Given the description of an element on the screen output the (x, y) to click on. 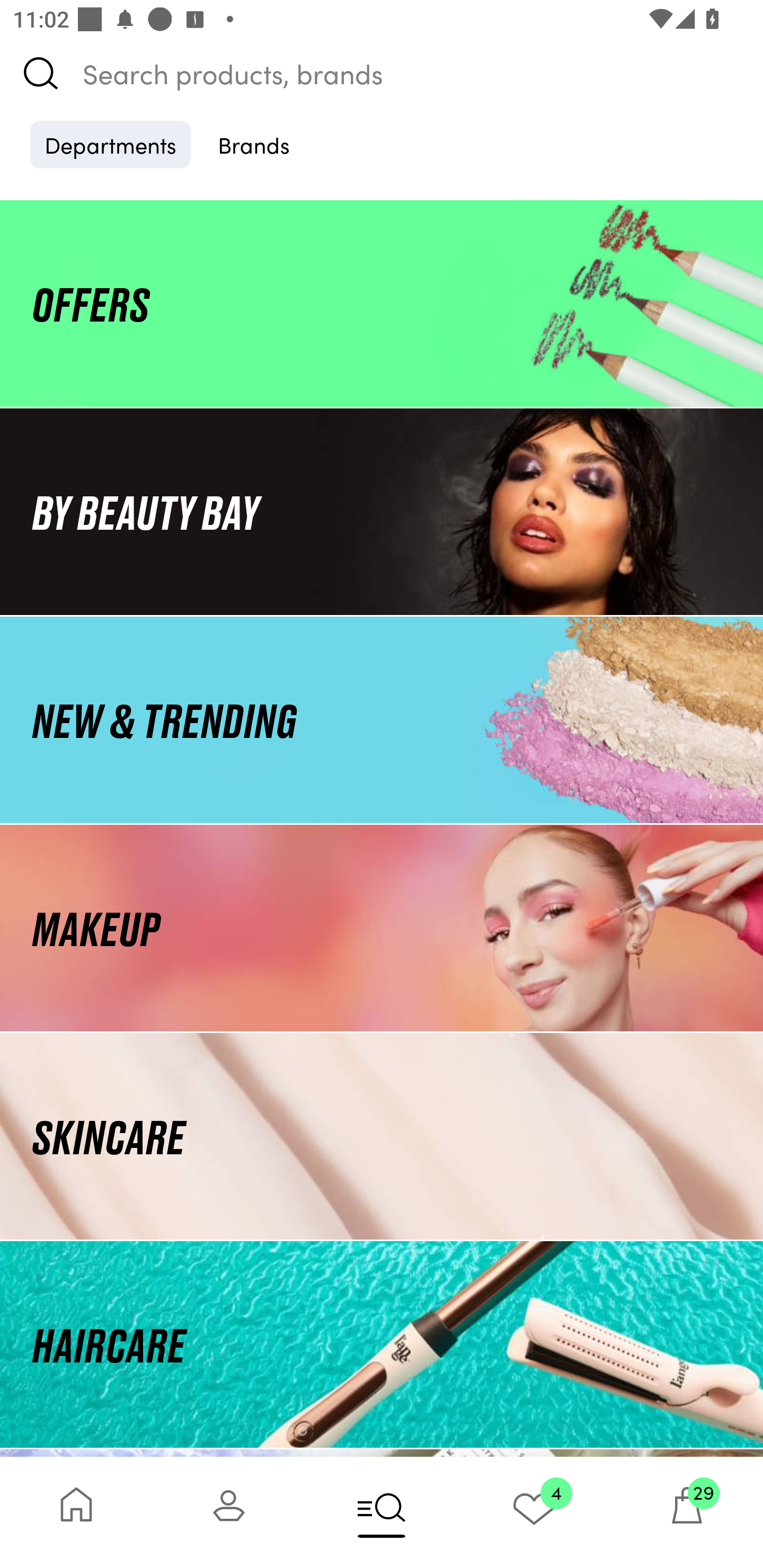
Search products, brands (381, 72)
Departments (110, 143)
Brands (253, 143)
OFFERS (381, 303)
BY BEAUTY BAY (381, 510)
NEW & TRENDING (381, 719)
MAKEUP (381, 927)
SKINCARE (381, 1136)
HAIRCARE (381, 1344)
4 (533, 1512)
29 (686, 1512)
